Given the description of an element on the screen output the (x, y) to click on. 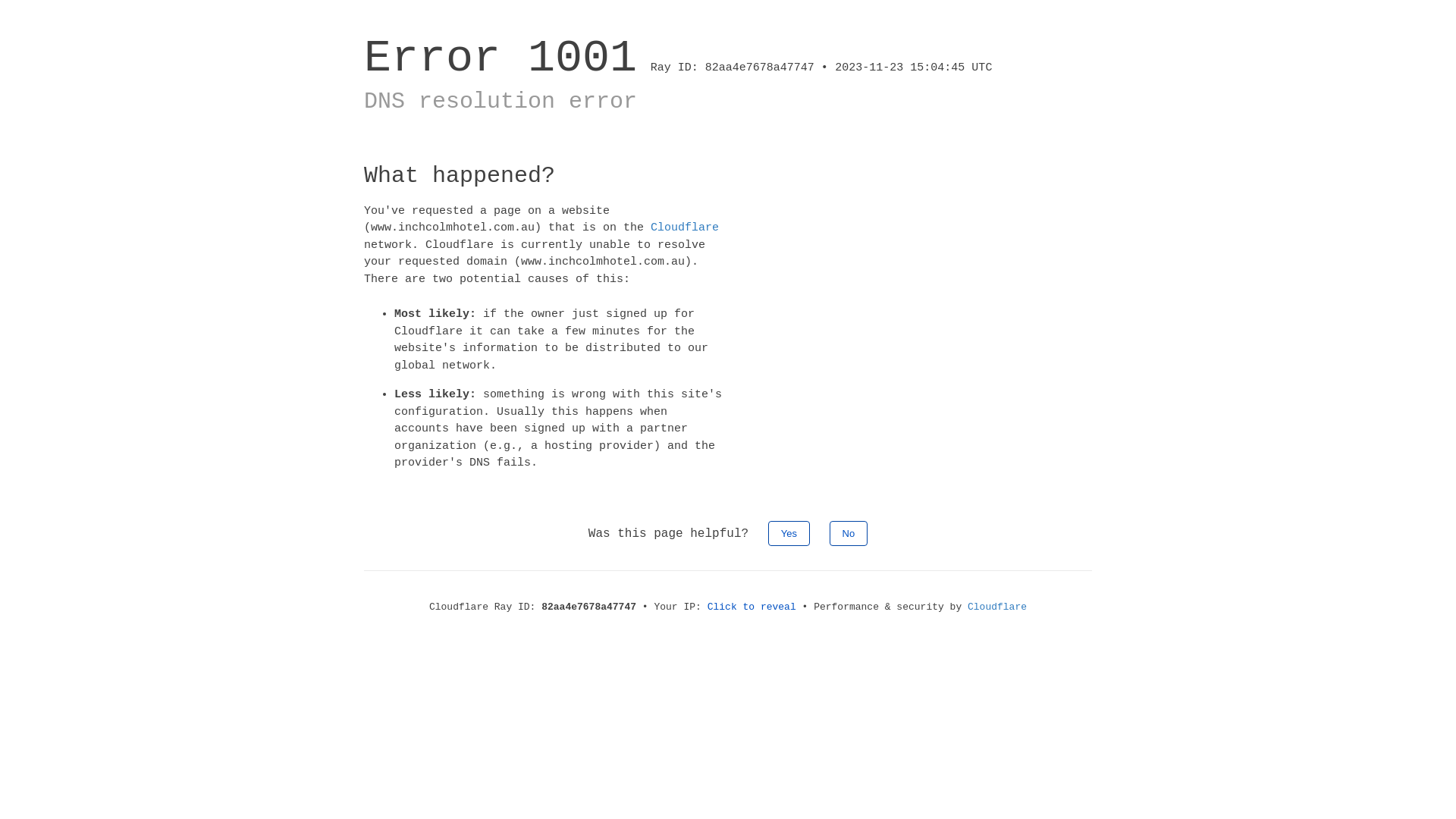
Click to reveal Element type: text (751, 605)
Yes Element type: text (788, 532)
Cloudflare Element type: text (996, 605)
No Element type: text (848, 532)
Cloudflare Element type: text (684, 227)
